Given the description of an element on the screen output the (x, y) to click on. 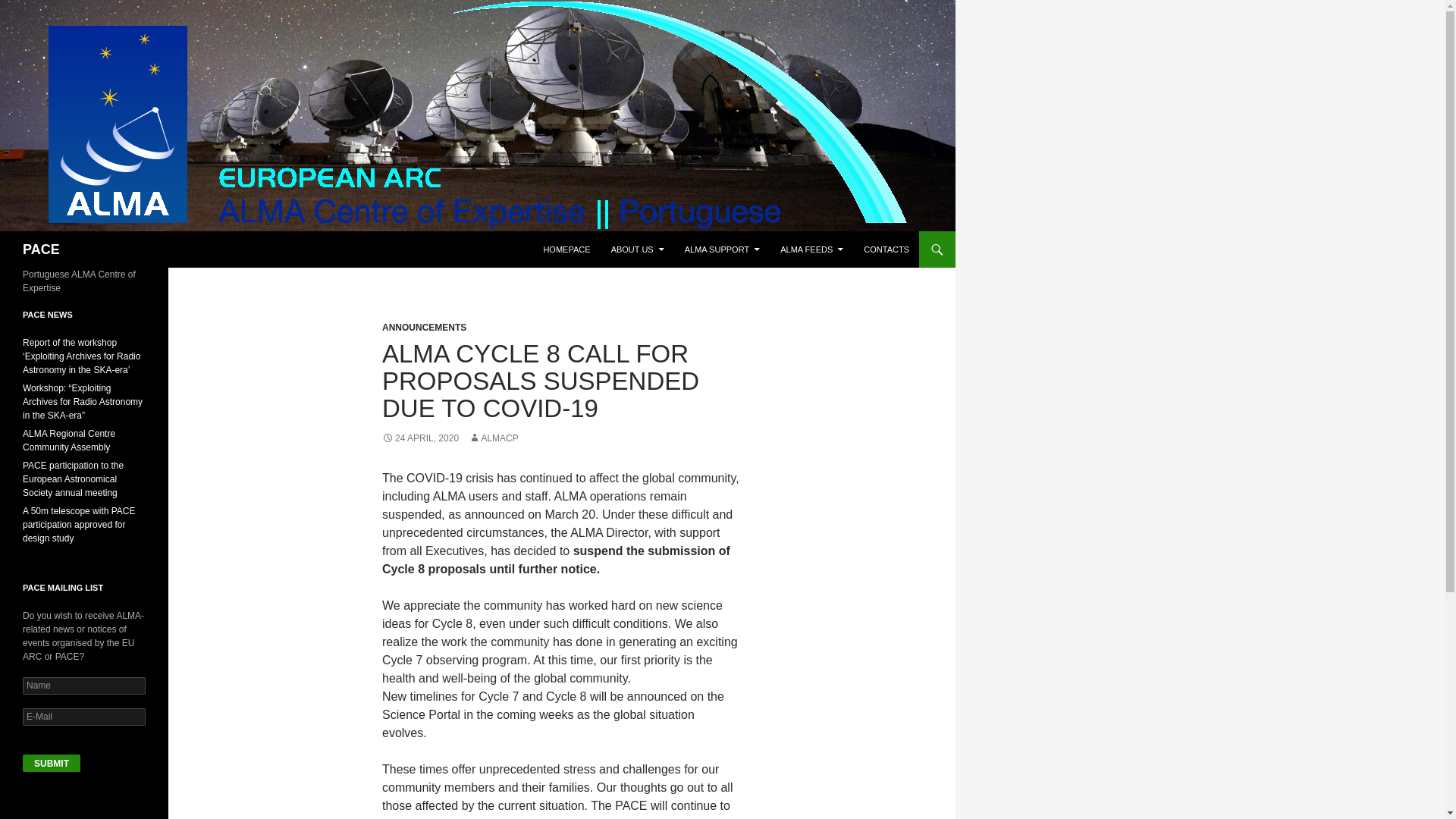
ALMA SUPPORT (721, 248)
ALMA FEEDS (811, 248)
HOMEPACE (566, 248)
ALMA Regional Centre Community Assembly (69, 440)
24 APRIL, 2020 (419, 438)
Submit (51, 763)
PACE (41, 248)
Submit (51, 763)
